Given the description of an element on the screen output the (x, y) to click on. 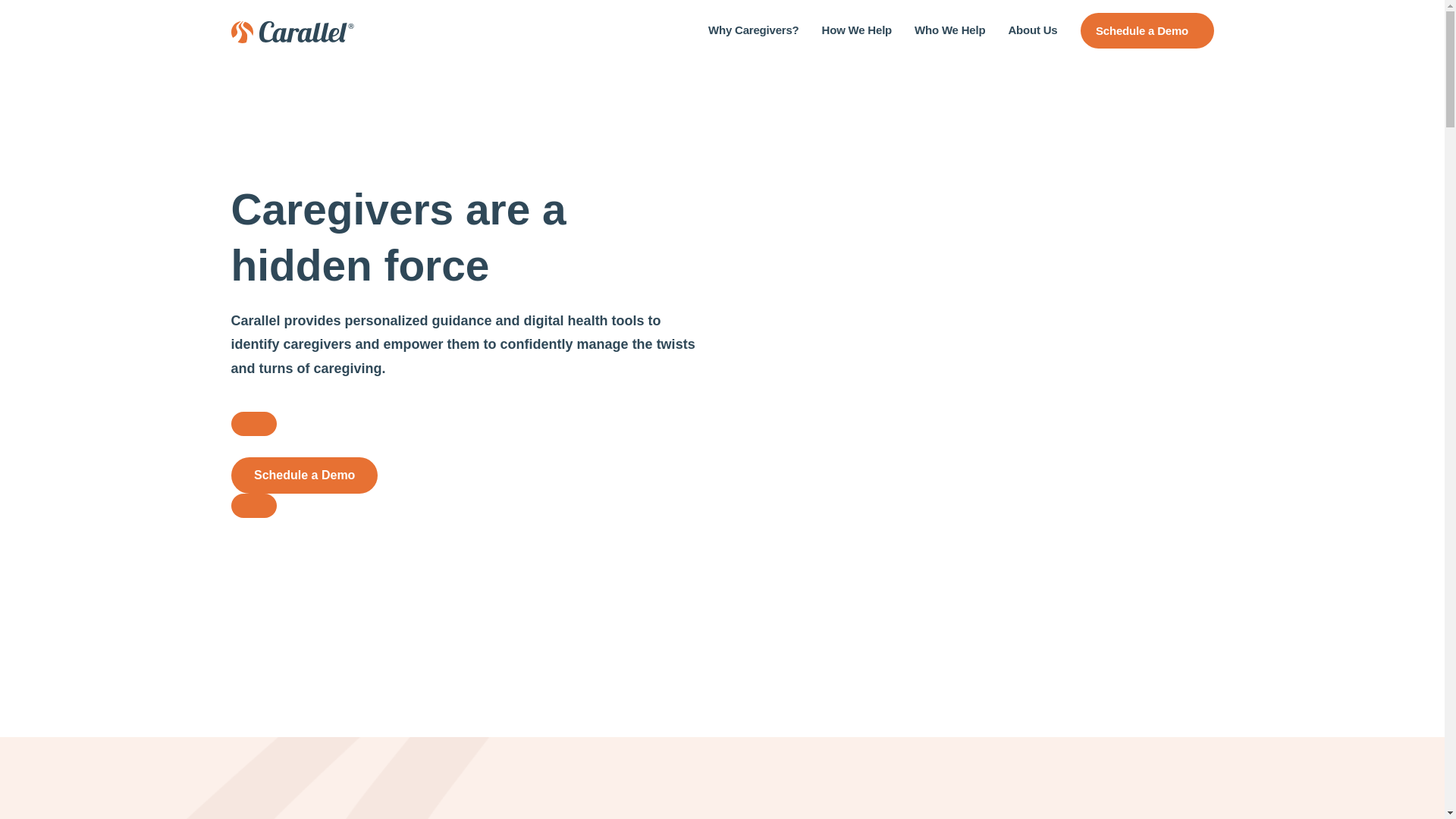
Schedule a Demo (253, 505)
About Us (1032, 30)
Schedule a Demo (303, 474)
Schedule a Demo (1146, 29)
How We Help (857, 30)
Carallel (291, 30)
Who We Help (949, 30)
Why Caregivers? (753, 30)
Schedule a Demo (303, 474)
Schedule a Demo (253, 422)
